Given the description of an element on the screen output the (x, y) to click on. 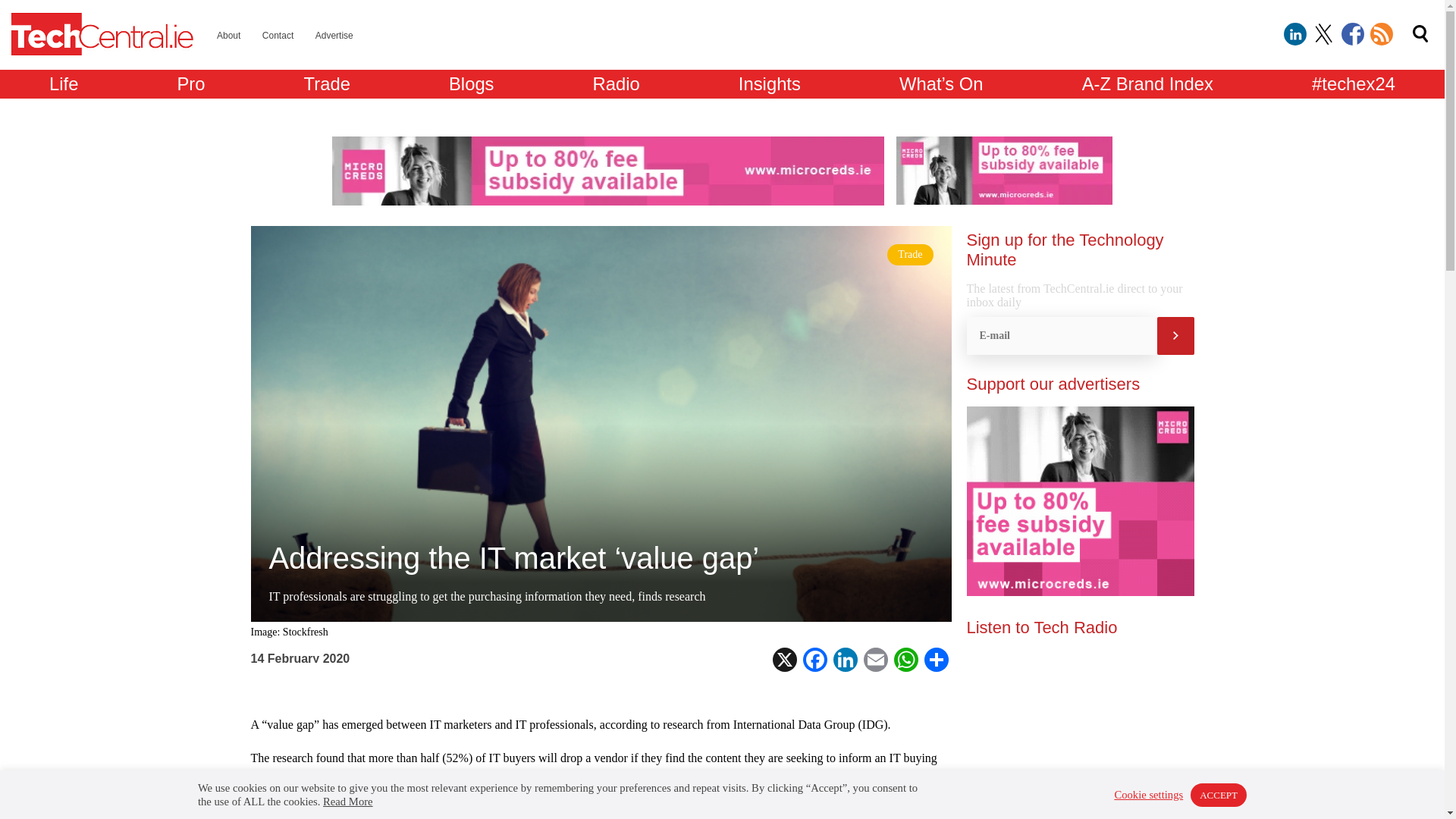
Follow on Twitter (1324, 33)
TechLife (64, 83)
Radio (616, 83)
Facebook (814, 659)
LinkedIn (844, 659)
About (228, 35)
A-Z Brand Index (1147, 83)
X (783, 659)
Life (64, 83)
Facebook (814, 659)
WhatsApp (904, 659)
X (783, 659)
Blogs (471, 83)
Follow on LinkedIn (1295, 33)
Submit (1175, 335)
